Given the description of an element on the screen output the (x, y) to click on. 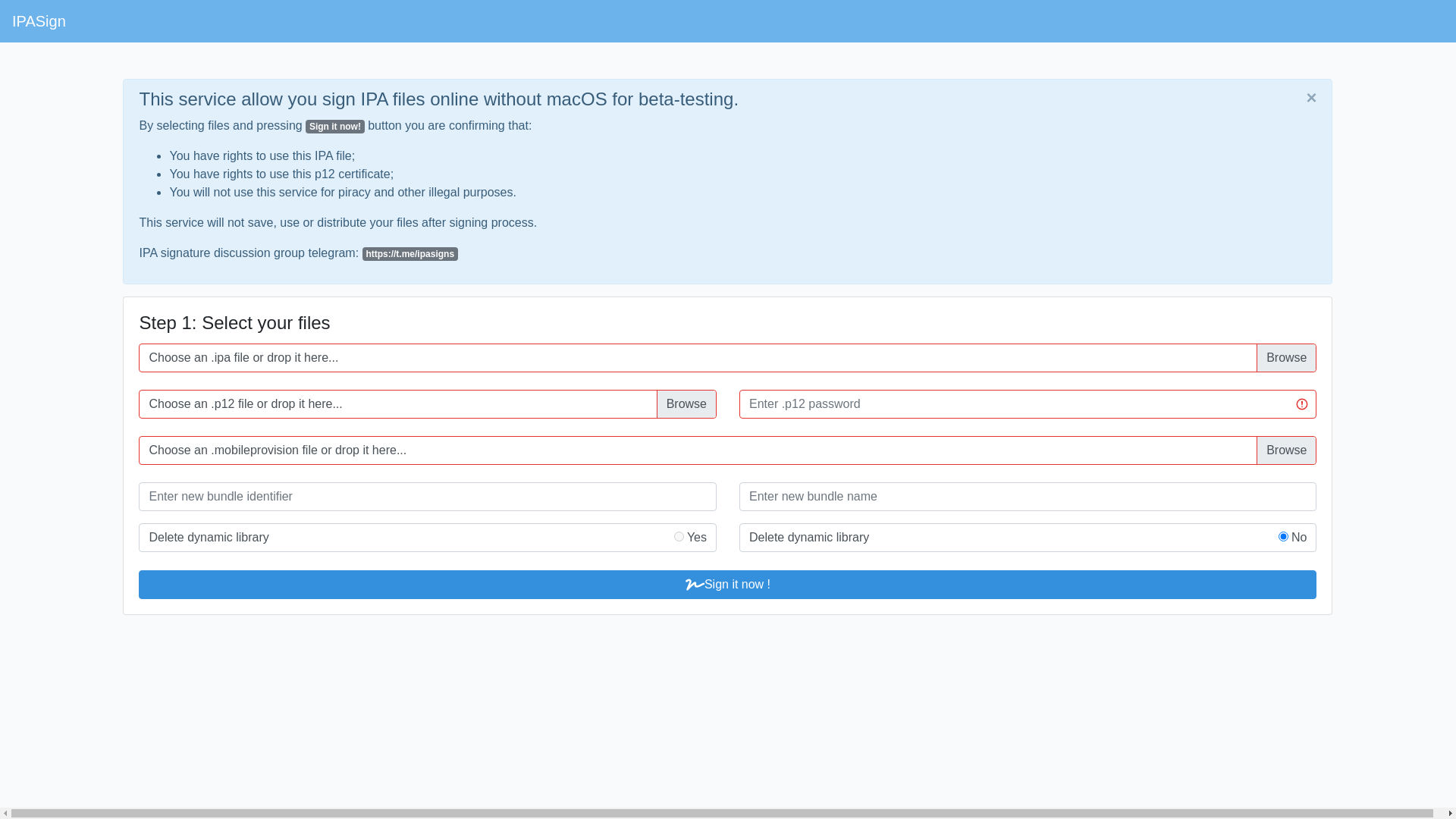
Sign it now ! Element type: text (727, 584)
IPASign Element type: text (38, 21)
